Given the description of an element on the screen output the (x, y) to click on. 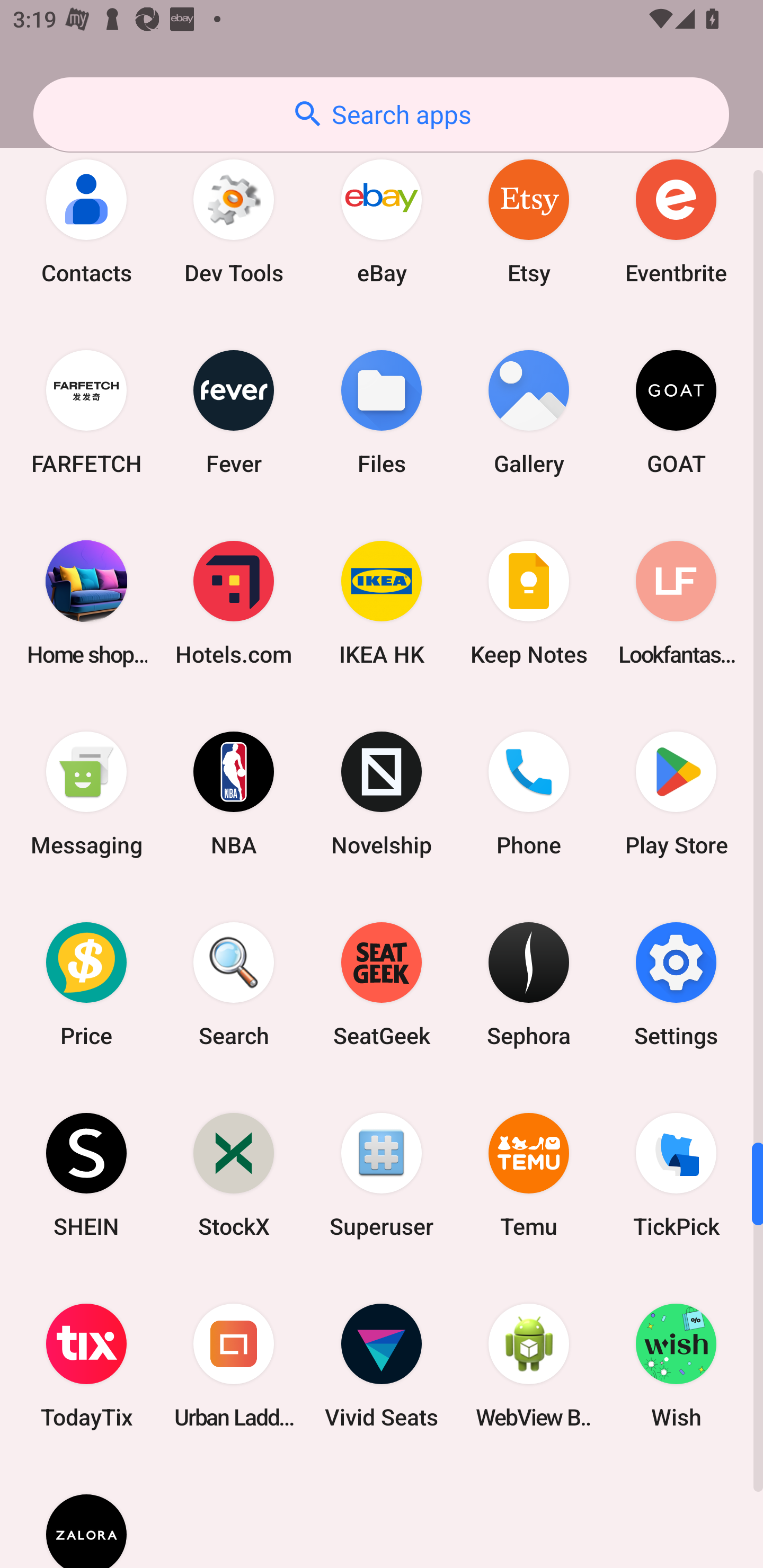
  Search apps (381, 114)
Contacts (86, 220)
Dev Tools (233, 220)
eBay (381, 220)
Etsy (528, 220)
Eventbrite (676, 220)
FARFETCH (86, 412)
Fever (233, 412)
Files (381, 412)
Gallery (528, 412)
GOAT (676, 412)
Home shopping (86, 602)
Hotels.com (233, 602)
IKEA HK (381, 602)
Keep Notes (528, 602)
Lookfantastic (676, 602)
Messaging (86, 793)
NBA (233, 793)
Novelship (381, 793)
Phone (528, 793)
Play Store (676, 793)
Price (86, 984)
Search (233, 984)
SeatGeek (381, 984)
Sephora (528, 984)
Settings (676, 984)
SHEIN (86, 1175)
StockX (233, 1175)
Superuser (381, 1175)
Temu (528, 1175)
TickPick (676, 1175)
TodayTix (86, 1365)
Urban Ladder (233, 1365)
Vivid Seats (381, 1365)
WebView Browser Tester (528, 1365)
Wish (676, 1365)
